Given the description of an element on the screen output the (x, y) to click on. 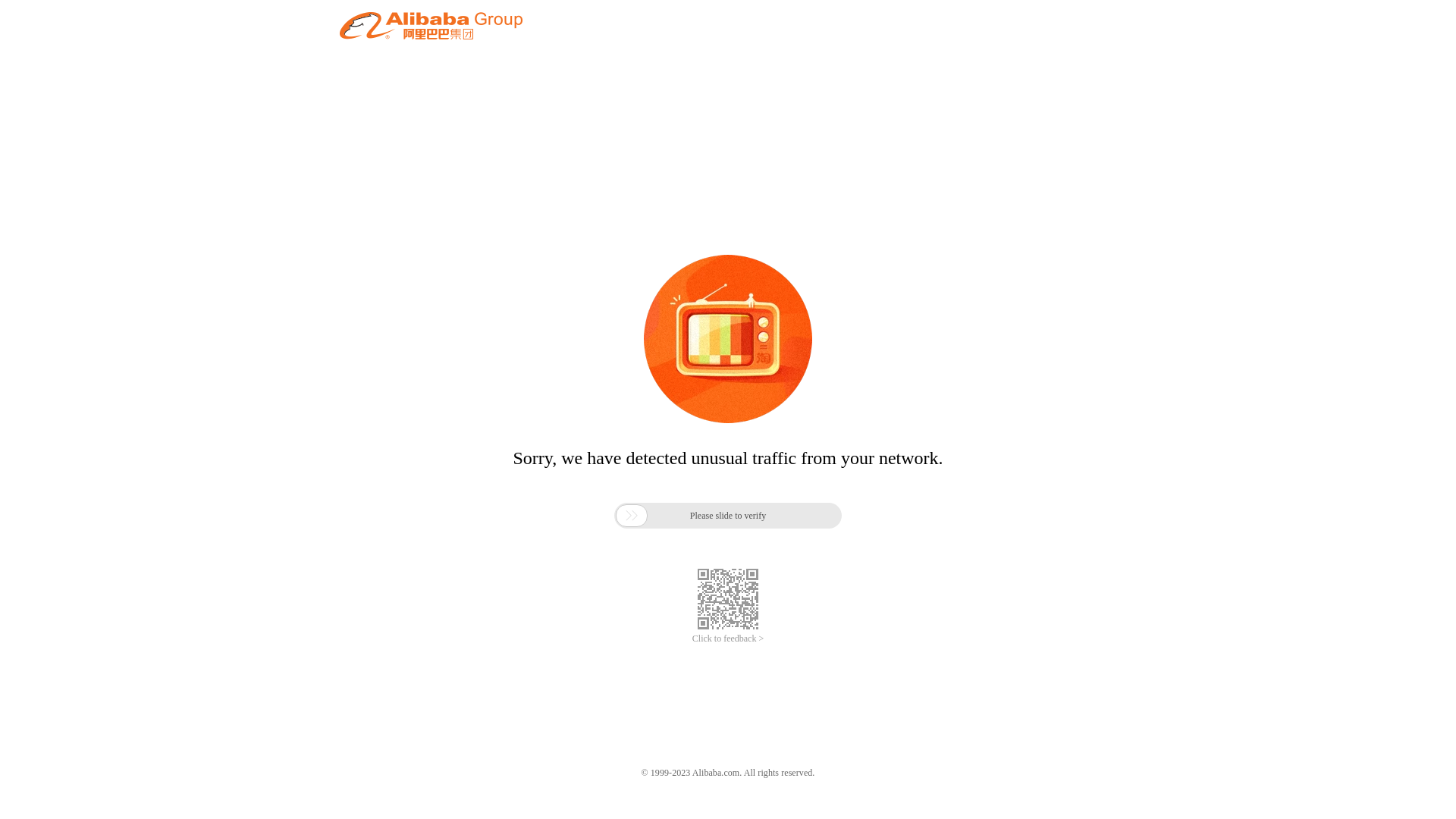
Click to feedback > Element type: text (727, 638)
